Given the description of an element on the screen output the (x, y) to click on. 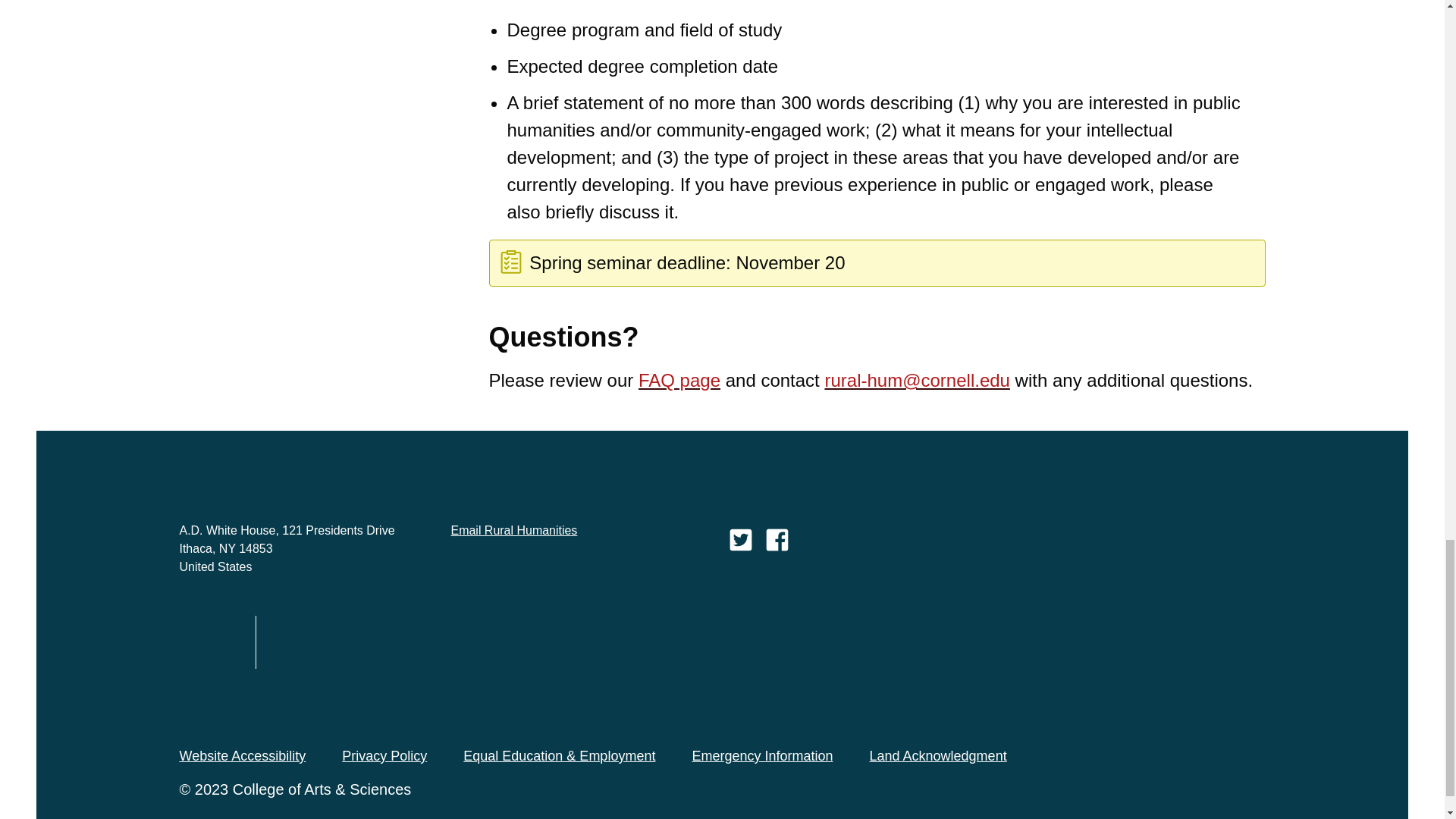
Cornell University (209, 642)
FAQ page (679, 380)
